Given the description of an element on the screen output the (x, y) to click on. 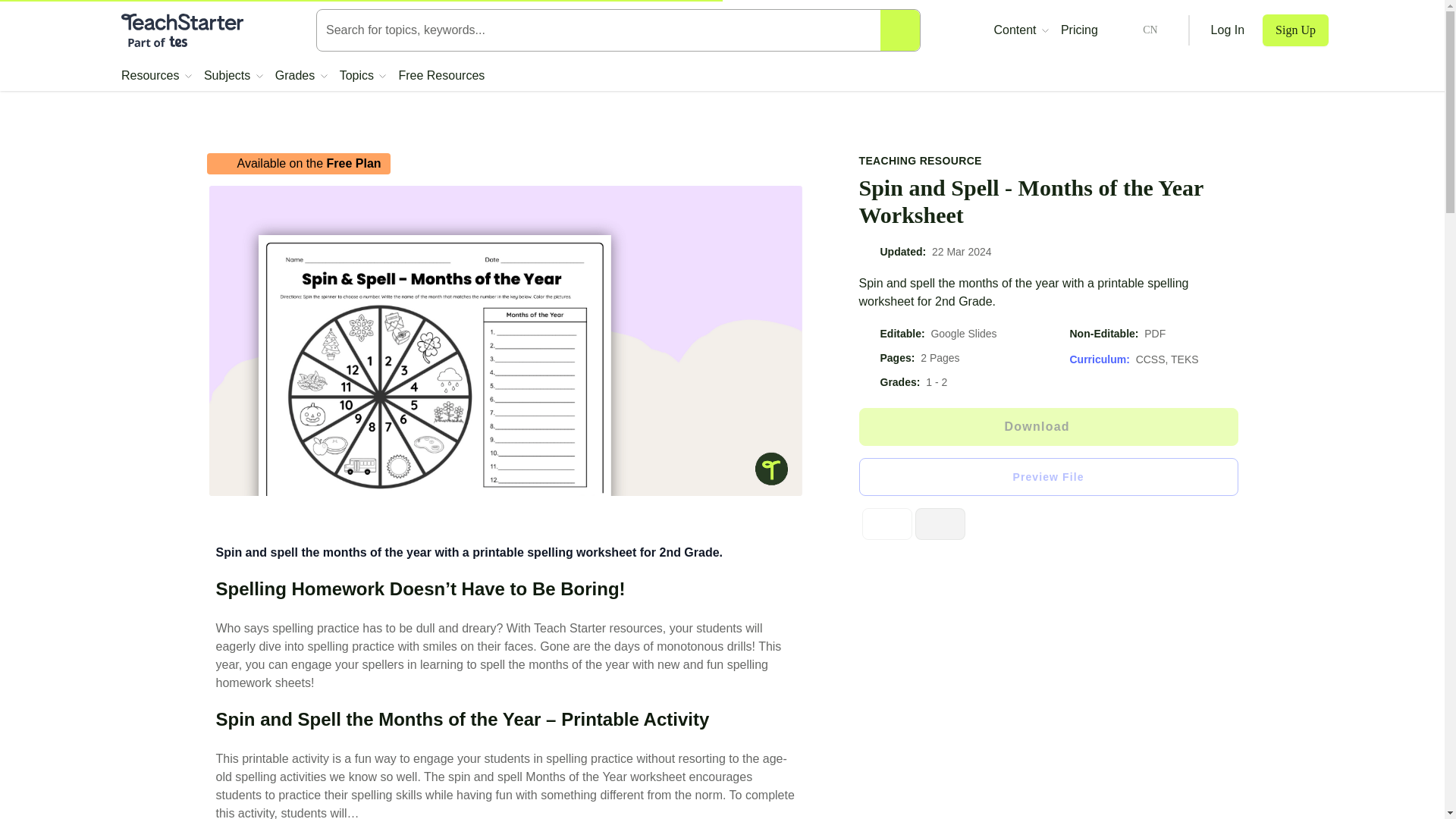
Sign Up (1294, 29)
Log in to your account (1227, 30)
Back to homepage (181, 29)
Teach Starter, part of Tes (181, 29)
Pricing (1079, 30)
Grades  (301, 75)
CN (1138, 30)
Subjects  (233, 75)
Blog, podcast, and webinars (1020, 30)
Change location (1138, 30)
